Given the description of an element on the screen output the (x, y) to click on. 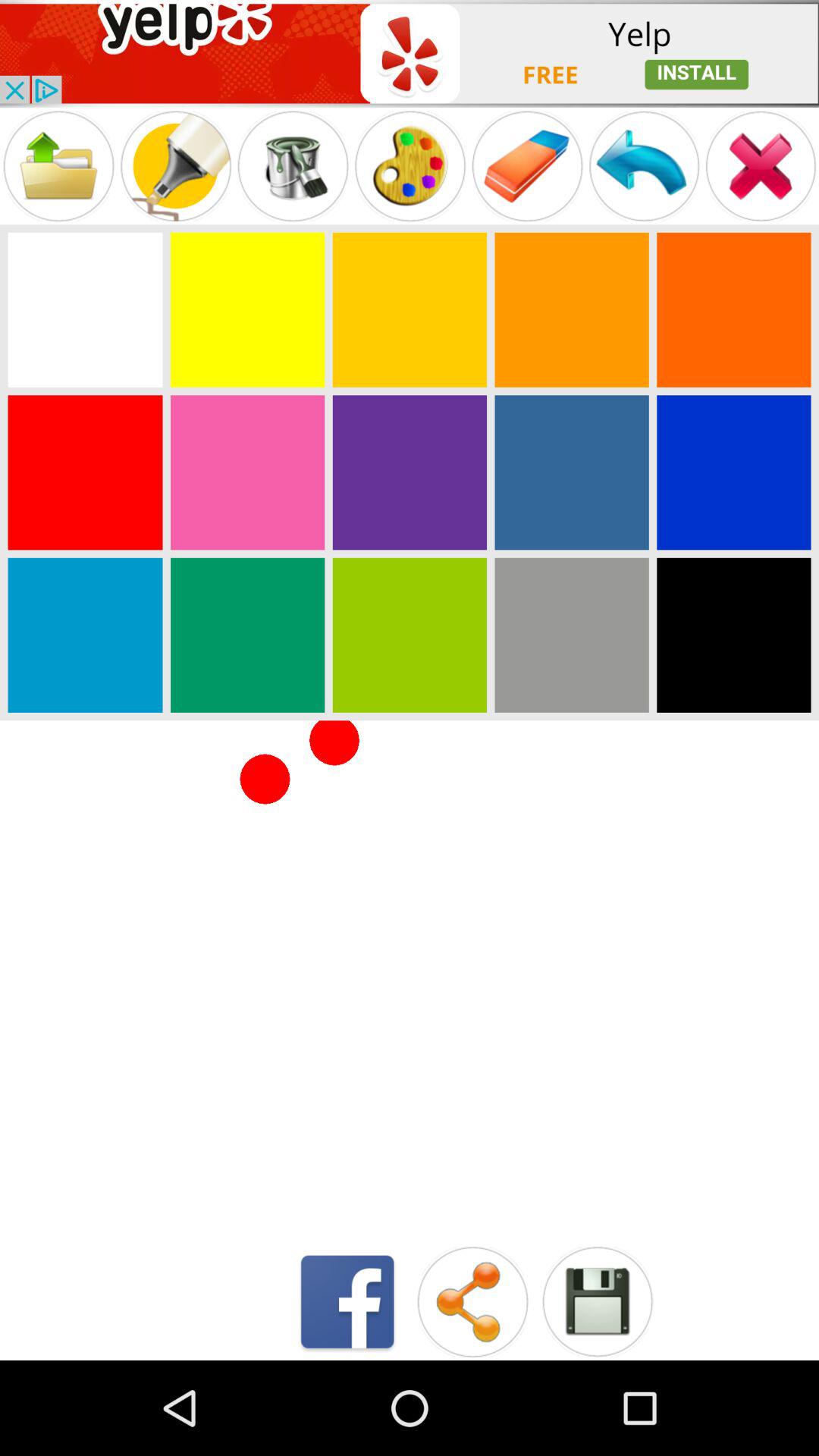
select this color (733, 634)
